Given the description of an element on the screen output the (x, y) to click on. 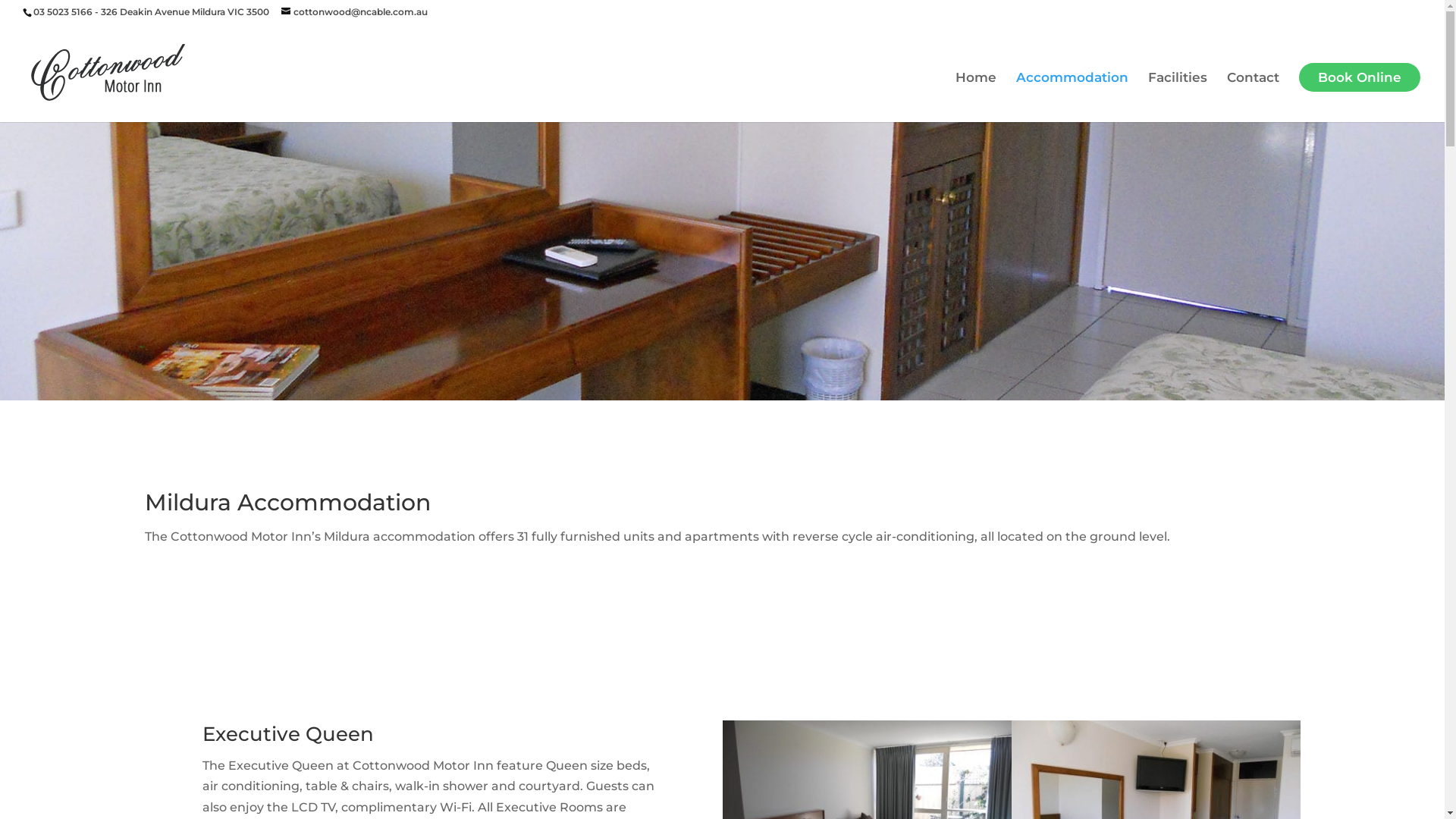
03 5023 5166 Element type: text (62, 11)
Contact Element type: text (1252, 97)
cottonwood@ncable.com.au Element type: text (354, 11)
Facilities Element type: text (1177, 97)
Accommodation Element type: text (1072, 97)
Home Element type: text (975, 97)
Book Online Element type: text (1359, 76)
